Given the description of an element on the screen output the (x, y) to click on. 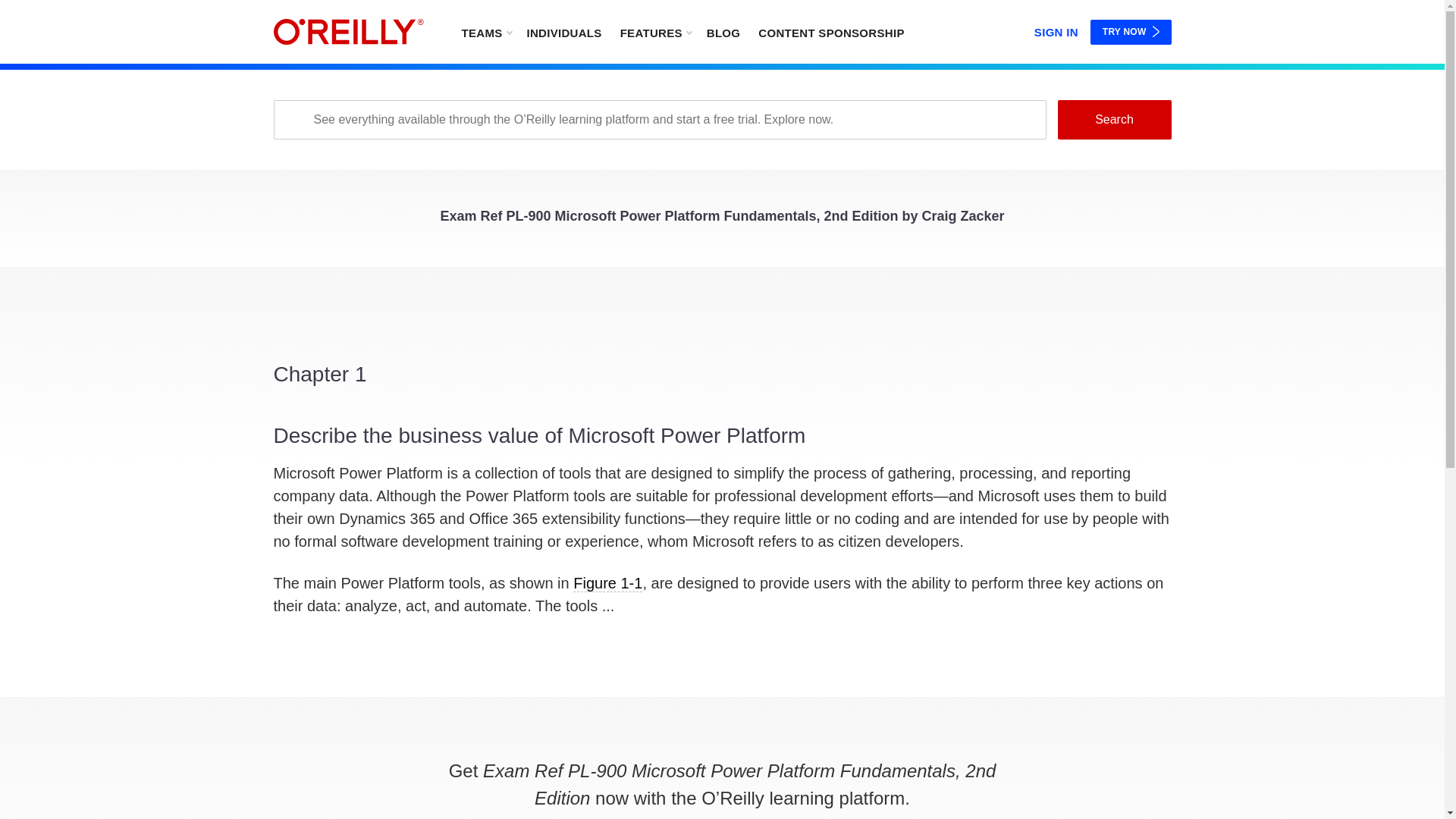
TEAMS (486, 31)
SIGN IN (1055, 29)
INDIVIDUALS (563, 31)
Search (1113, 119)
Search (1113, 119)
CONTENT SPONSORSHIP (831, 31)
FEATURES (655, 31)
Figure 1-1 (607, 583)
BLOG (723, 31)
home page (348, 31)
TRY NOW (1131, 32)
Search (1113, 119)
